Given the description of an element on the screen output the (x, y) to click on. 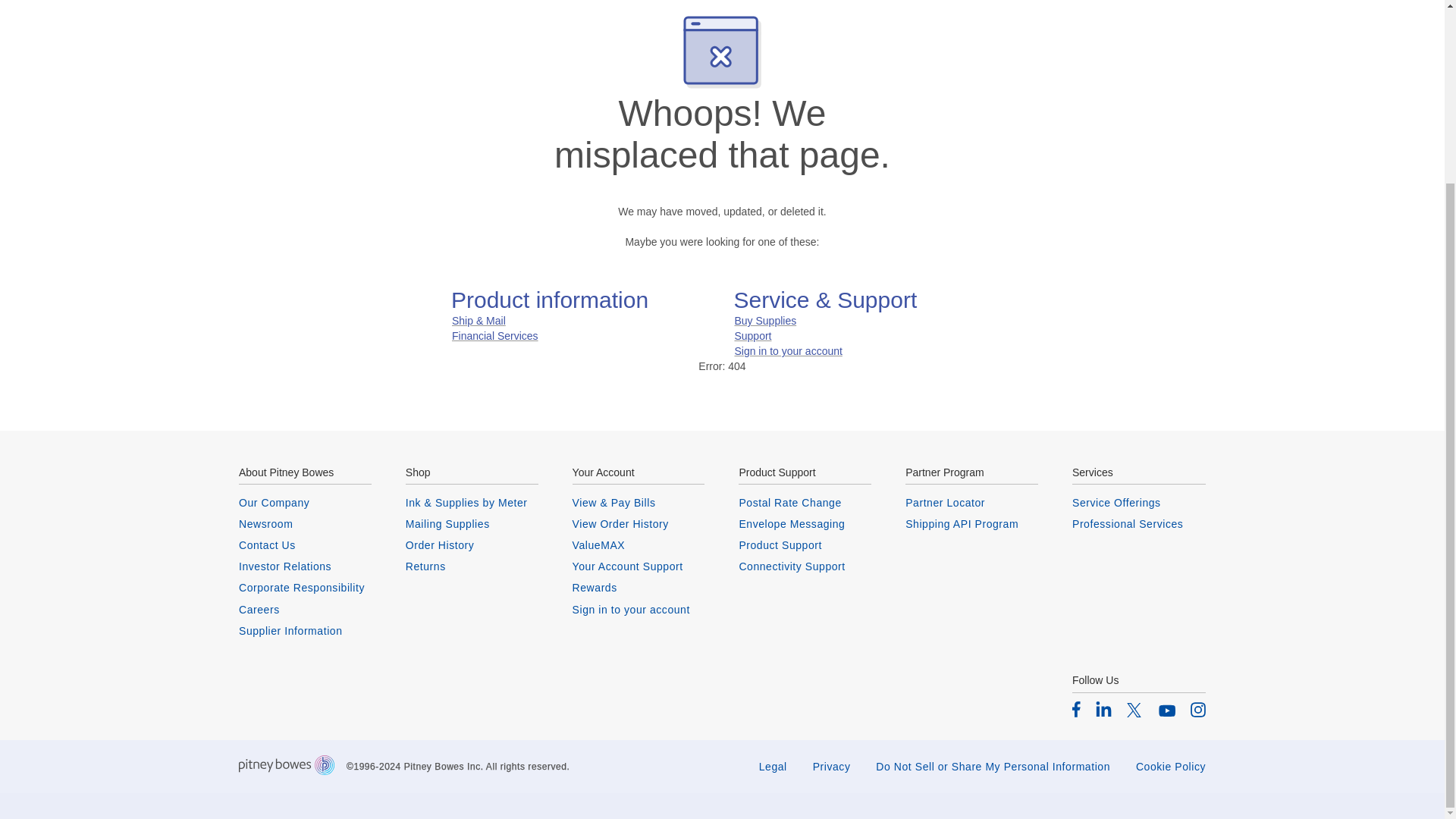
Order History (472, 545)
Contact Us (304, 545)
Our Company (304, 502)
Supplier Information (304, 631)
Careers (304, 609)
Investor Relations (304, 566)
Mailing Supplies (472, 523)
Corporate Responsibility (304, 587)
Newsroom (304, 523)
